Given the description of an element on the screen output the (x, y) to click on. 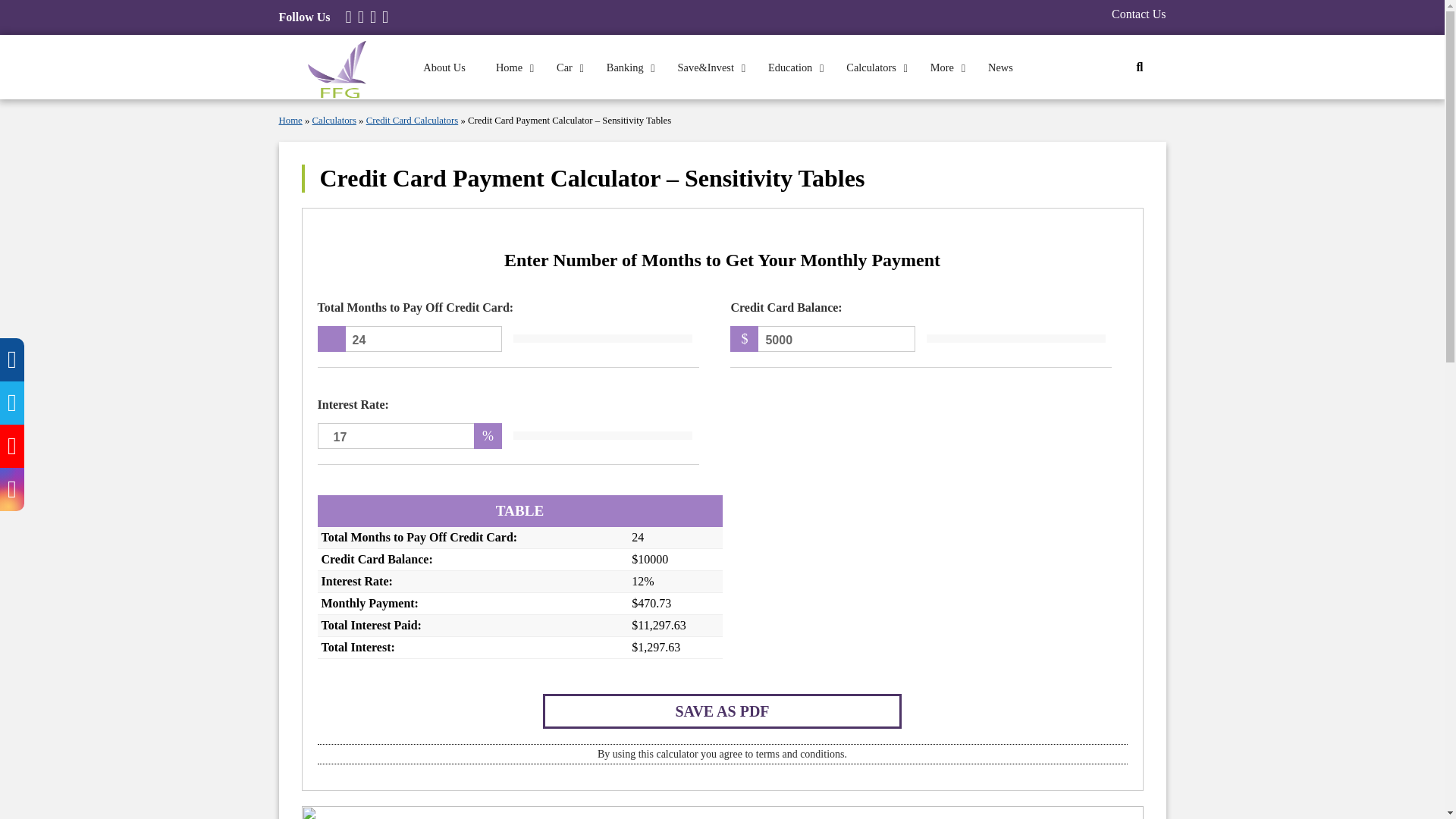
5000 (822, 338)
Contact Us (1139, 13)
Home (510, 67)
24 (409, 338)
About Us (443, 67)
17 (409, 435)
Banking (626, 67)
